Given the description of an element on the screen output the (x, y) to click on. 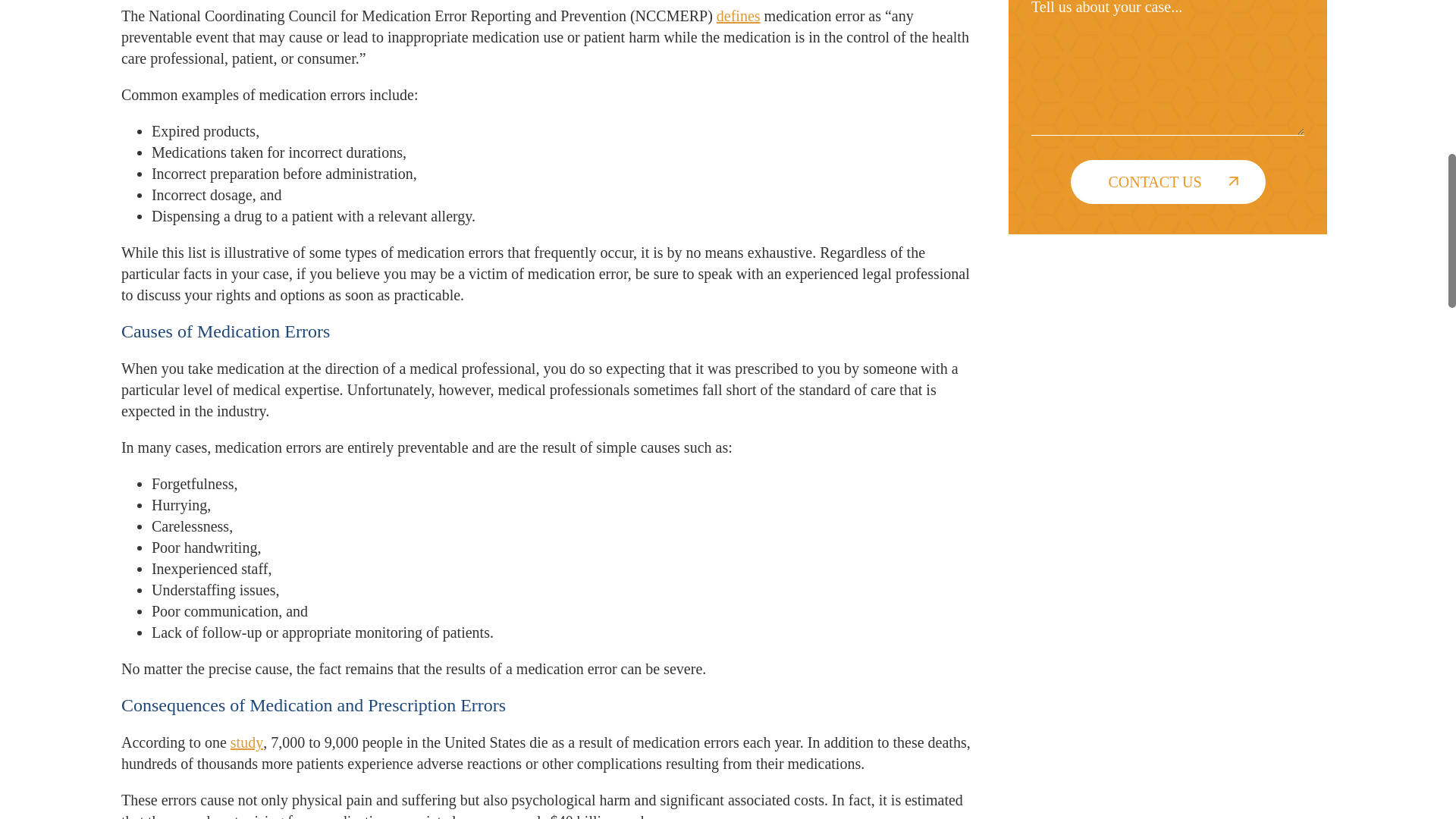
defines (738, 15)
CONTACT US (1167, 181)
study (246, 742)
